Given the description of an element on the screen output the (x, y) to click on. 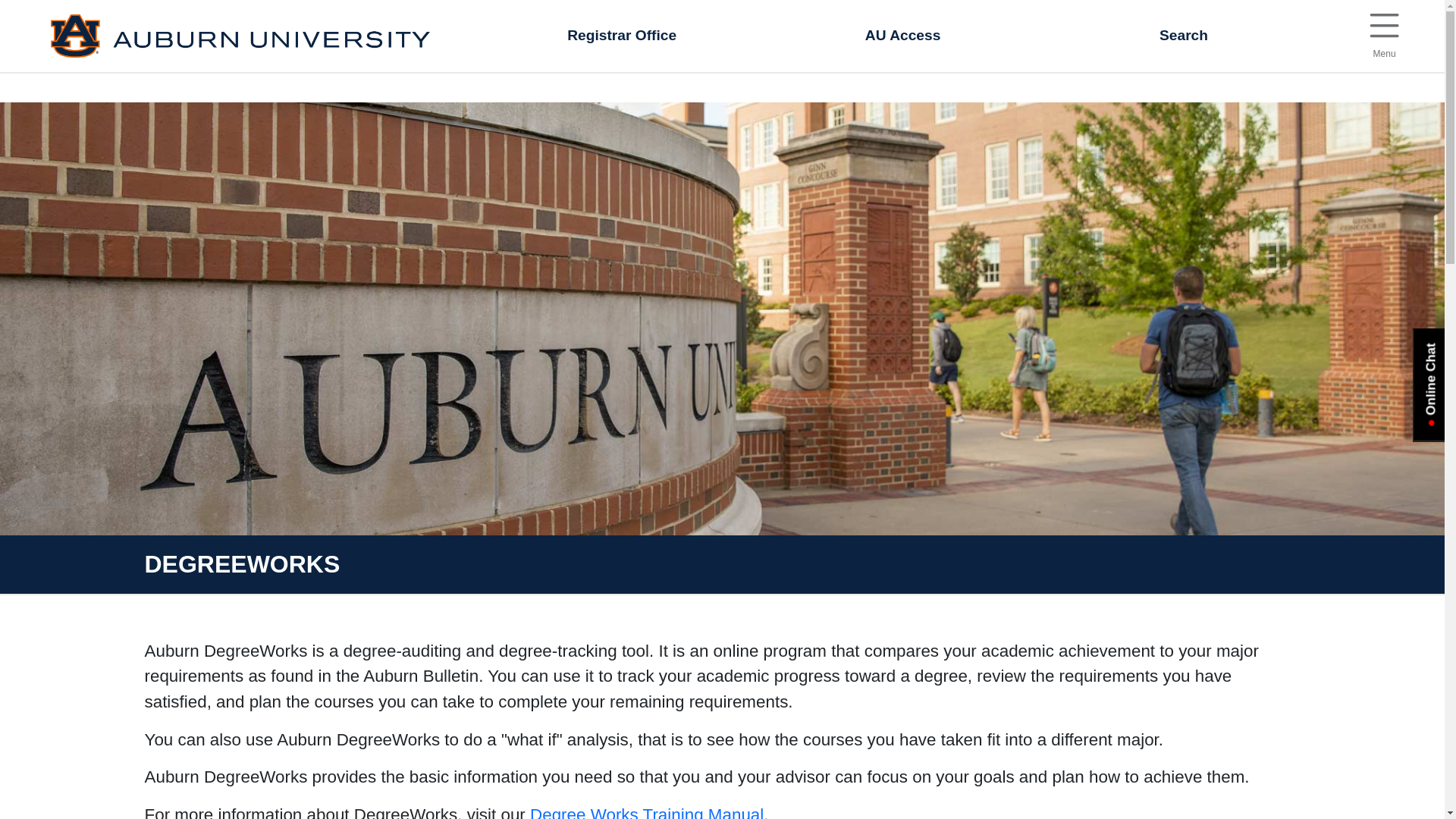
AU Access (901, 35)
Registrar Office (1383, 32)
Menu button (621, 35)
Search (1383, 25)
